Given the description of an element on the screen output the (x, y) to click on. 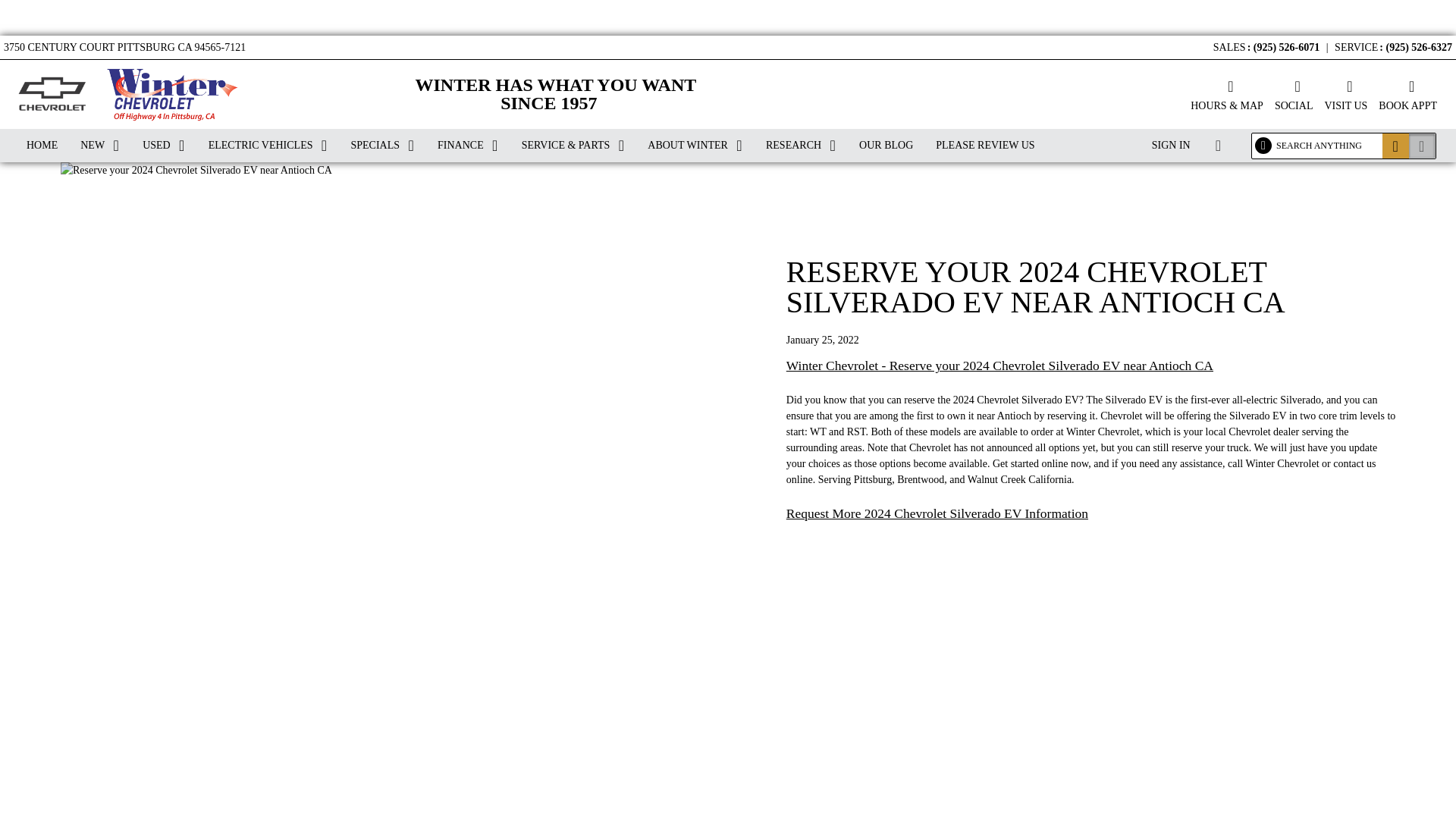
Search Inventory (1422, 145)
Request More 2024 Chevrolet Silverado EV Information (936, 514)
Search Anything (1395, 145)
Skip to Main Content (45, 7)
VISIT US (1345, 93)
SOCIAL (1294, 93)
Chevrolet (50, 94)
HOME (41, 145)
Winter Chevrolet (167, 93)
Visit Winter Chevrolet (1345, 93)
3750 CENTURY COURT PITTSBURG CA 94565-7121 (125, 44)
BOOK APPT (1407, 93)
